Given the description of an element on the screen output the (x, y) to click on. 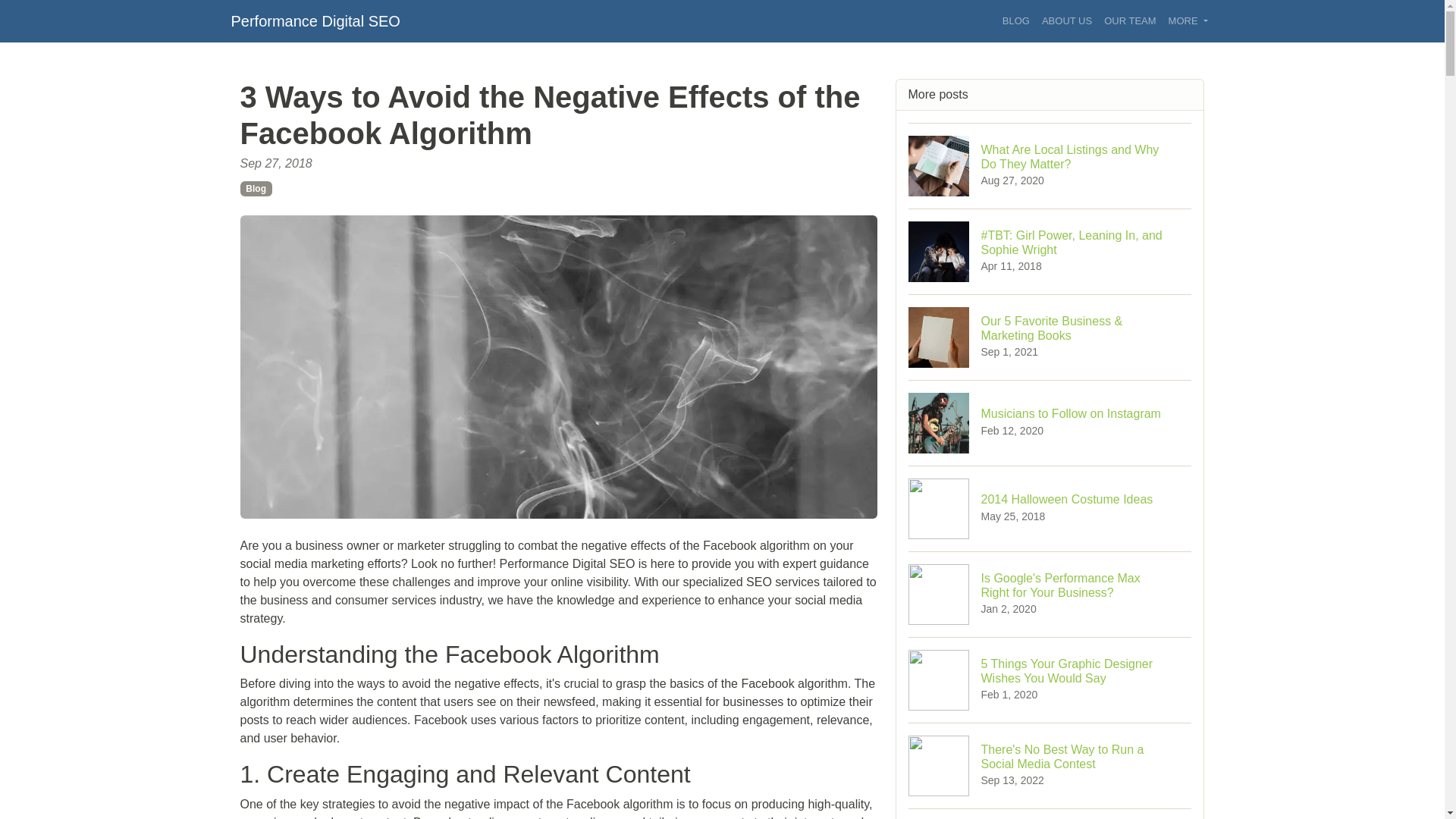
BLOG (1015, 21)
Performance Digital SEO (1050, 165)
OUR TEAM (1050, 508)
